Given the description of an element on the screen output the (x, y) to click on. 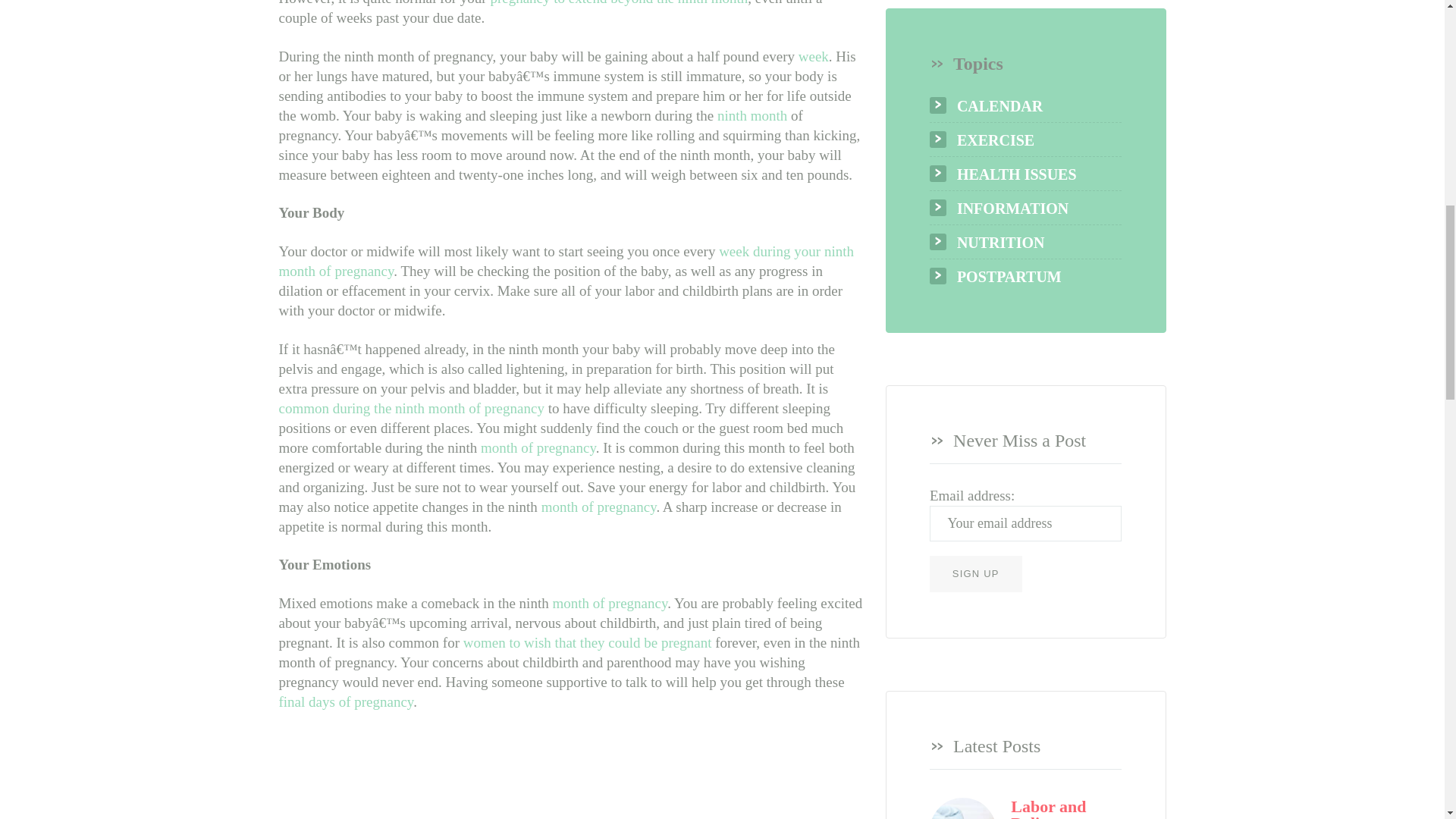
week (812, 56)
week during your ninth month of pregnancy (566, 261)
month of pregnancy (598, 506)
pregnancy to extend beyond the ninth month (618, 2)
ninth month (752, 115)
Sign up (976, 574)
common during the ninth month of pregnancy (411, 408)
month of pregnancy (537, 447)
